Given the description of an element on the screen output the (x, y) to click on. 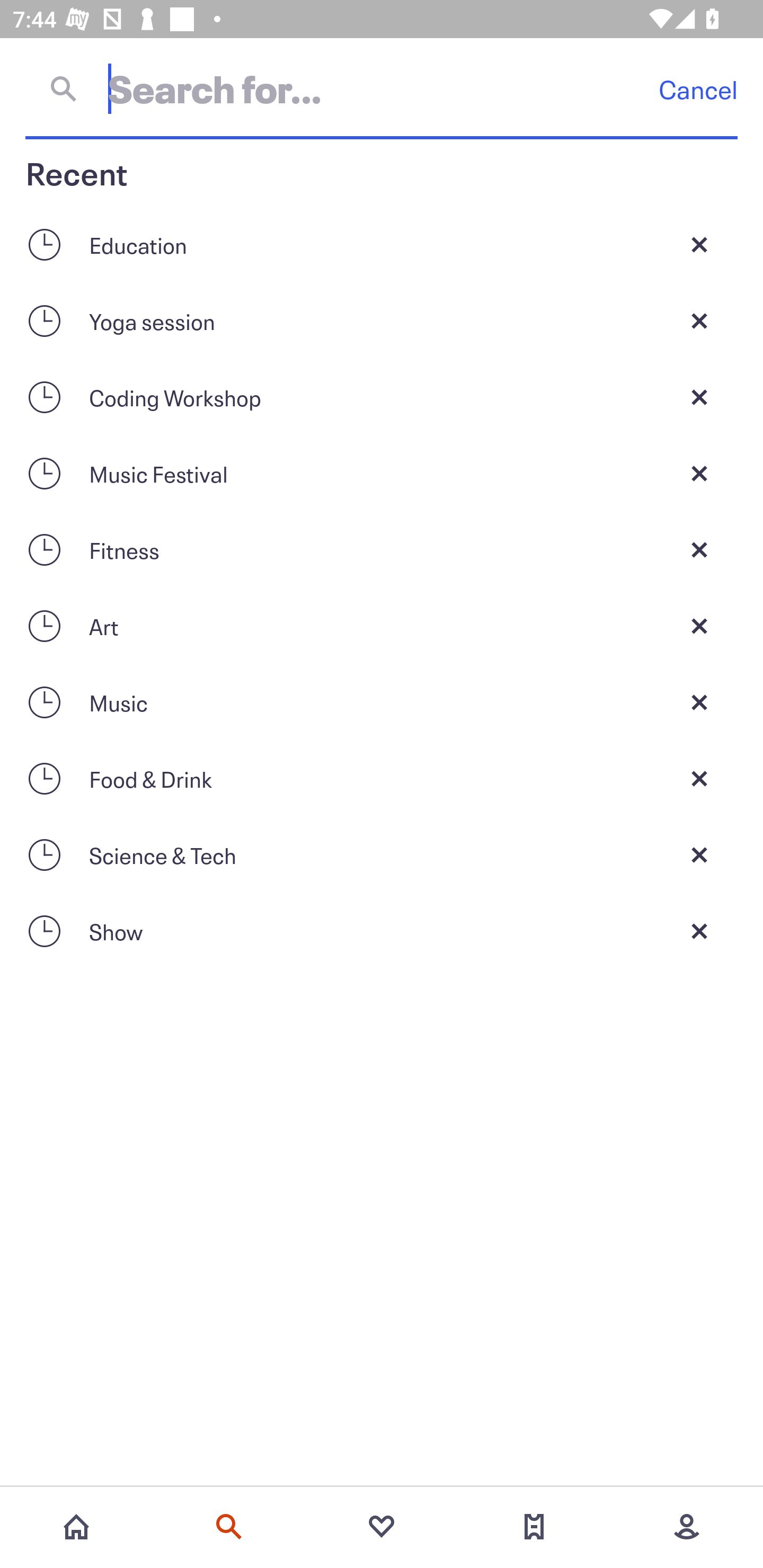
Cancel Search for… (381, 88)
Cancel (697, 89)
Education Close current screen (381, 244)
Close current screen (699, 244)
Yoga session Close current screen (381, 320)
Close current screen (699, 320)
Coding Workshop Close current screen (381, 397)
Close current screen (699, 397)
Music Festival Close current screen (381, 473)
Close current screen (699, 473)
Fitness Close current screen (381, 549)
Close current screen (699, 549)
Art Close current screen (381, 626)
Close current screen (699, 626)
Music Close current screen (381, 702)
Close current screen (699, 702)
Food & Drink Close current screen (381, 778)
Close current screen (699, 778)
Science & Tech Close current screen (381, 854)
Close current screen (699, 854)
Show Close current screen (381, 931)
Close current screen (699, 931)
Home (76, 1526)
Search events (228, 1526)
Favorites (381, 1526)
Tickets (533, 1526)
More (686, 1526)
